Given the description of an element on the screen output the (x, y) to click on. 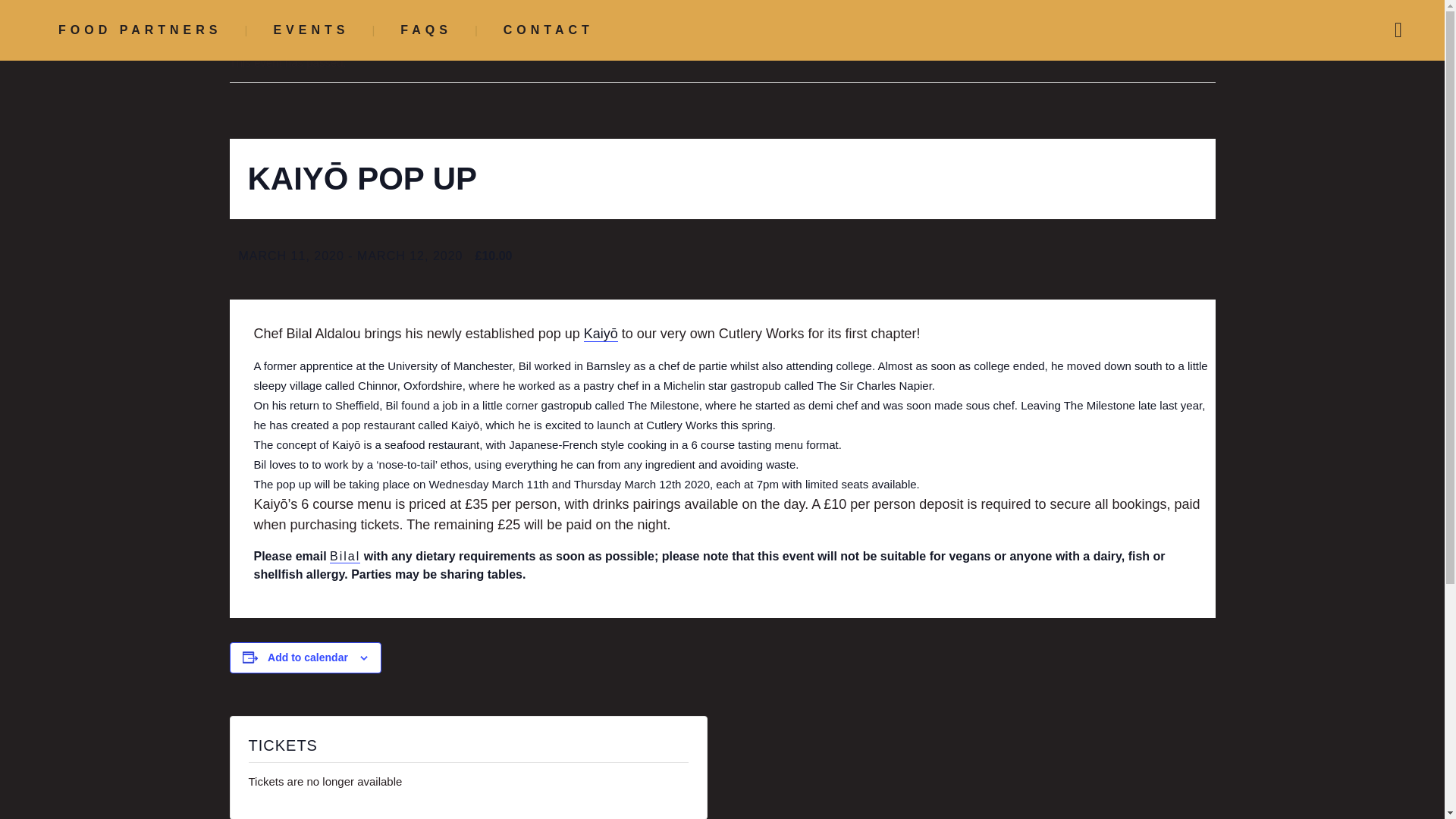
Proudly in Support of (1099, 460)
Add to calendar (307, 657)
FOOD PARTNERS (139, 30)
CUTLERYWORKS (350, 406)
CONTACT (548, 30)
EVENTS (310, 30)
forms-page (1099, 614)
Bilal (344, 556)
FAQS (425, 30)
